Given the description of an element on the screen output the (x, y) to click on. 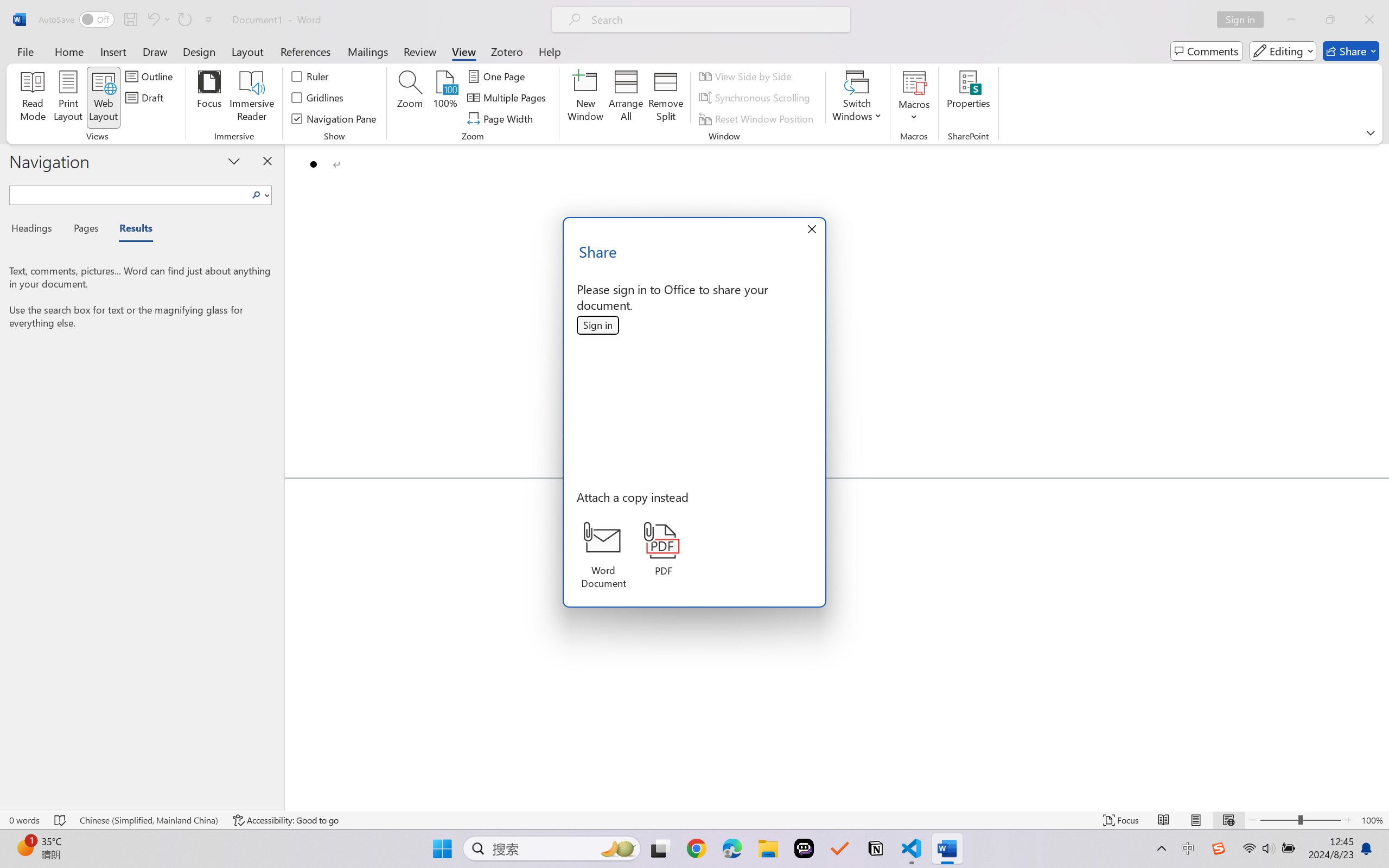
Switch Windows (856, 97)
Search document (128, 193)
Draft (146, 97)
Outline (150, 75)
PDF (663, 549)
Page Width (501, 118)
